Given the description of an element on the screen output the (x, y) to click on. 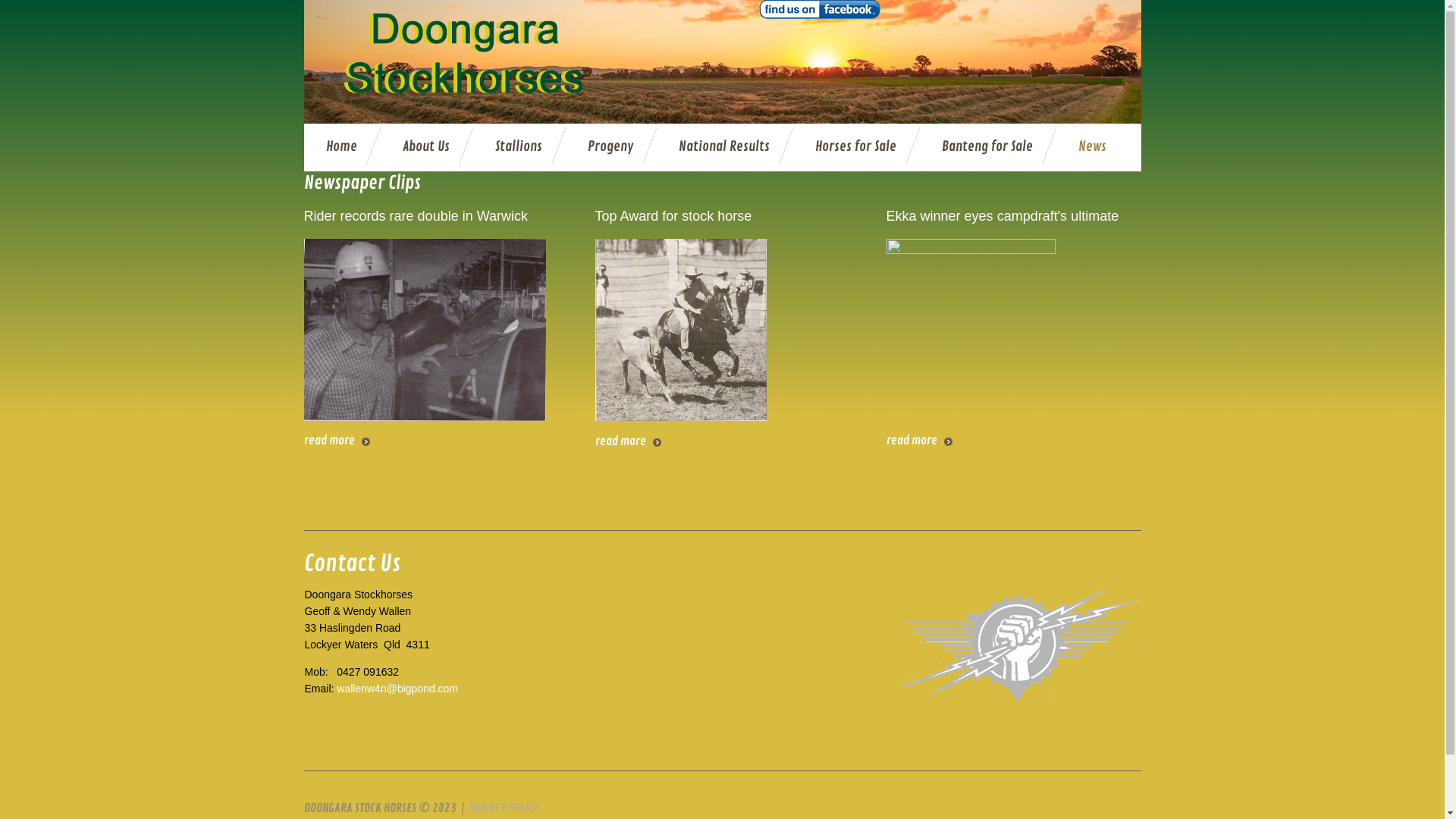
Horses for Sale Element type: text (854, 146)
wallenw4n@bigpond.com Element type: text (397, 688)
About Us Element type: text (424, 146)
read more Element type: text (336, 440)
Rider records rare double in Warwick Element type: text (415, 215)
Progeny Element type: text (609, 146)
Stallions Element type: text (517, 146)
read more Element type: text (918, 440)
Top Award for stock horse Element type: text (672, 215)
Ekka winner eyes campdraft's ultimate Element type: text (1001, 215)
read more Element type: text (627, 440)
Home Element type: text (341, 146)
Banteng for Sale Element type: text (986, 146)
PRIVACY POLICY Element type: text (503, 807)
National Results Element type: text (722, 146)
